Given the description of an element on the screen output the (x, y) to click on. 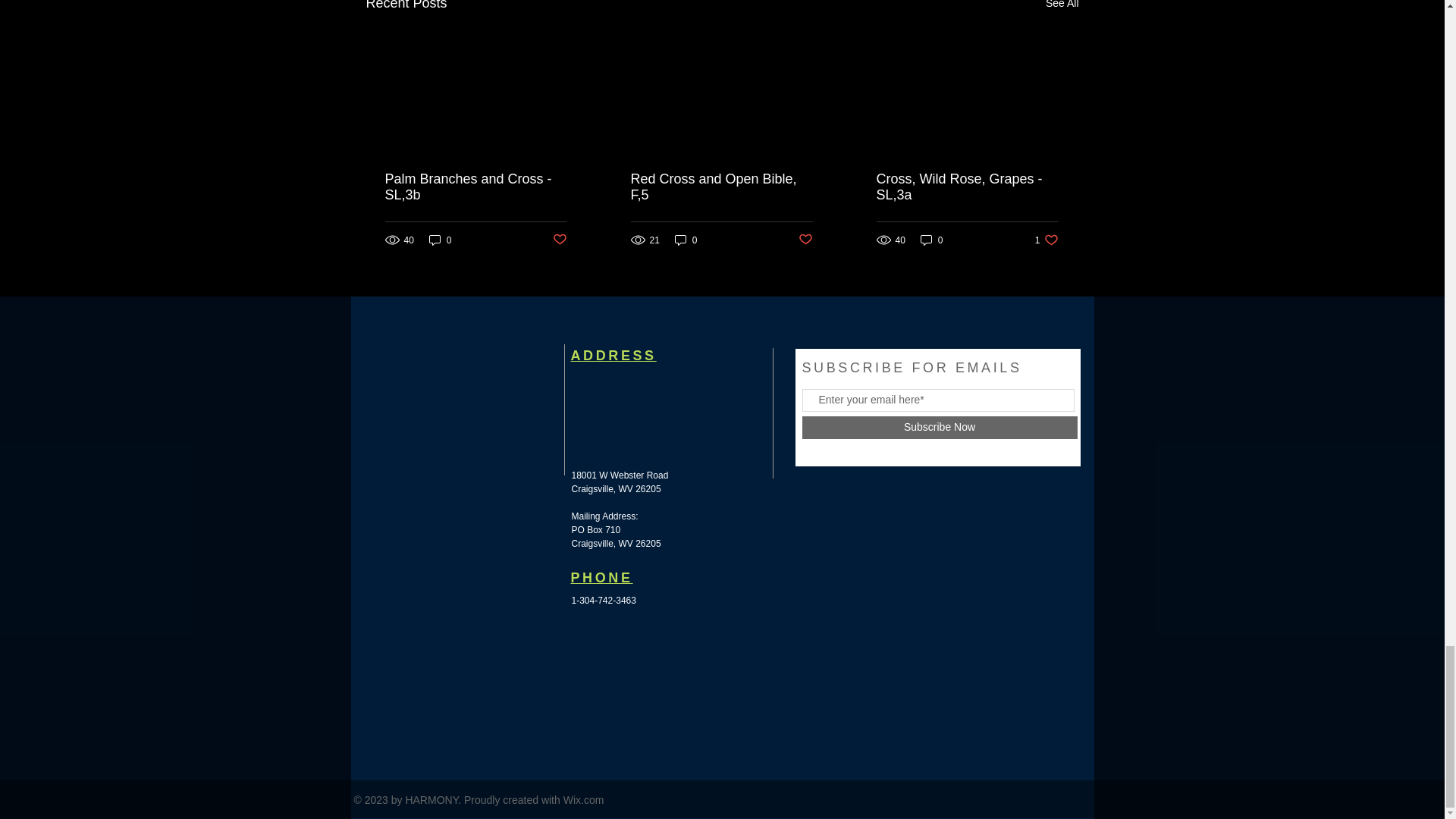
0 (440, 239)
See All (1061, 7)
0 (931, 239)
Post not marked as liked (804, 239)
Palm Branches and Cross - SL,3b (476, 187)
Cross, Wild Rose, Grapes - SL,3a (1046, 239)
Red Cross and Open Bible, F,5 (967, 187)
Post not marked as liked (721, 187)
0 (558, 239)
